Given the description of an element on the screen output the (x, y) to click on. 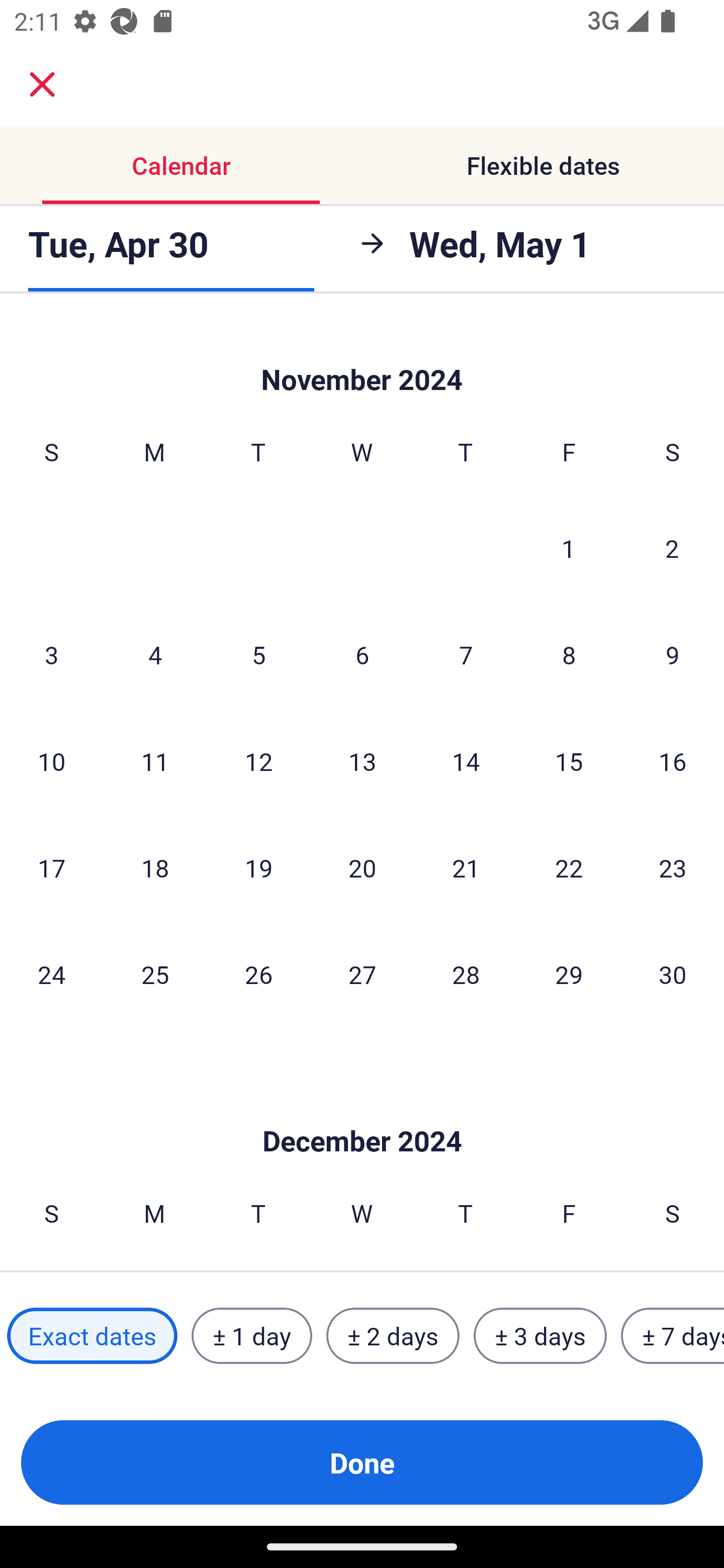
close. (42, 84)
Flexible dates (542, 164)
Skip to Done (362, 356)
1 Friday, November 1, 2024 (568, 547)
2 Saturday, November 2, 2024 (672, 547)
3 Sunday, November 3, 2024 (51, 654)
4 Monday, November 4, 2024 (155, 654)
5 Tuesday, November 5, 2024 (258, 654)
6 Wednesday, November 6, 2024 (362, 654)
7 Thursday, November 7, 2024 (465, 654)
8 Friday, November 8, 2024 (569, 654)
9 Saturday, November 9, 2024 (672, 654)
10 Sunday, November 10, 2024 (51, 761)
11 Monday, November 11, 2024 (155, 761)
12 Tuesday, November 12, 2024 (258, 761)
13 Wednesday, November 13, 2024 (362, 761)
14 Thursday, November 14, 2024 (465, 761)
15 Friday, November 15, 2024 (569, 761)
16 Saturday, November 16, 2024 (672, 761)
17 Sunday, November 17, 2024 (51, 867)
18 Monday, November 18, 2024 (155, 867)
19 Tuesday, November 19, 2024 (258, 867)
20 Wednesday, November 20, 2024 (362, 867)
21 Thursday, November 21, 2024 (465, 867)
22 Friday, November 22, 2024 (569, 867)
23 Saturday, November 23, 2024 (672, 867)
24 Sunday, November 24, 2024 (51, 973)
25 Monday, November 25, 2024 (155, 973)
26 Tuesday, November 26, 2024 (258, 973)
27 Wednesday, November 27, 2024 (362, 973)
28 Thursday, November 28, 2024 (465, 973)
29 Friday, November 29, 2024 (569, 973)
30 Saturday, November 30, 2024 (672, 973)
Skip to Done (362, 1111)
Exact dates (92, 1335)
± 1 day (251, 1335)
± 2 days (392, 1335)
± 3 days (539, 1335)
± 7 days (672, 1335)
Done (361, 1462)
